Given the description of an element on the screen output the (x, y) to click on. 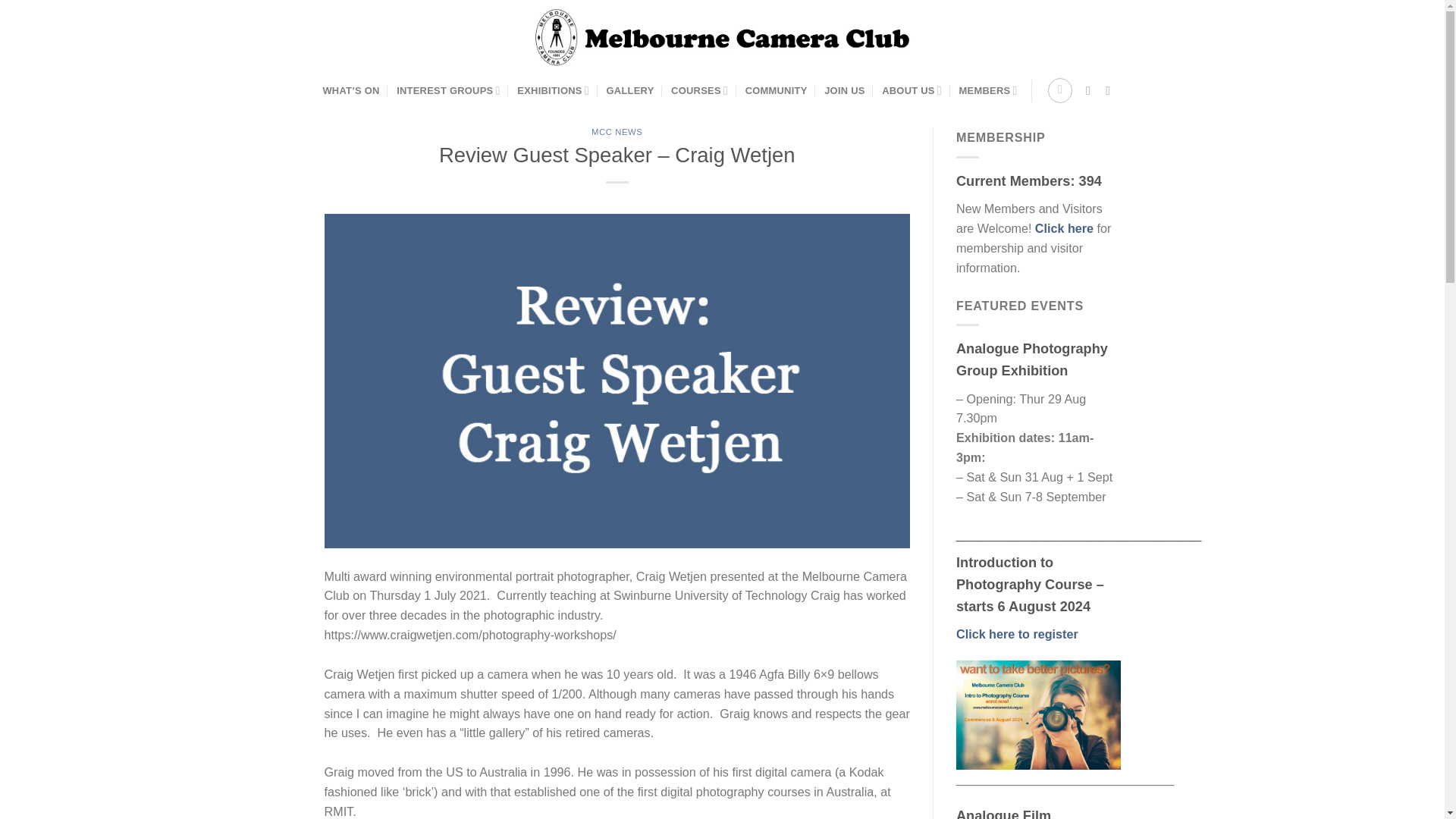
COURSES (699, 90)
GALLERY (630, 90)
COMMUNITY (776, 90)
EXHIBITIONS (552, 90)
ABOUT US (912, 90)
JOIN US (844, 90)
Follow on Facebook (1091, 90)
INTEREST GROUPS (448, 90)
